Given the description of an element on the screen output the (x, y) to click on. 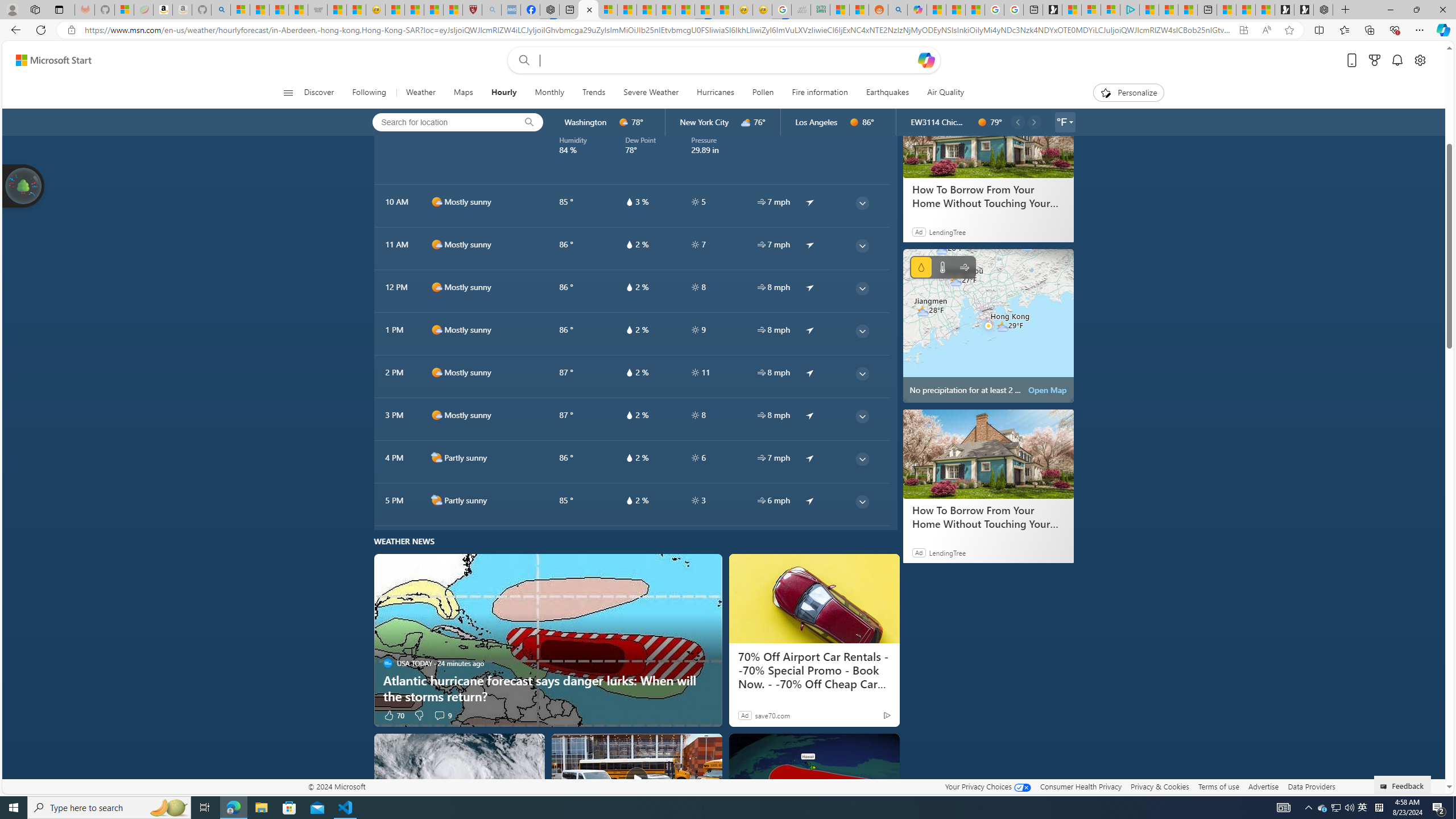
LendingTree (946, 552)
hourlyTable/uv (694, 500)
Microsoft Copilot in Bing (916, 9)
